Given the description of an element on the screen output the (x, y) to click on. 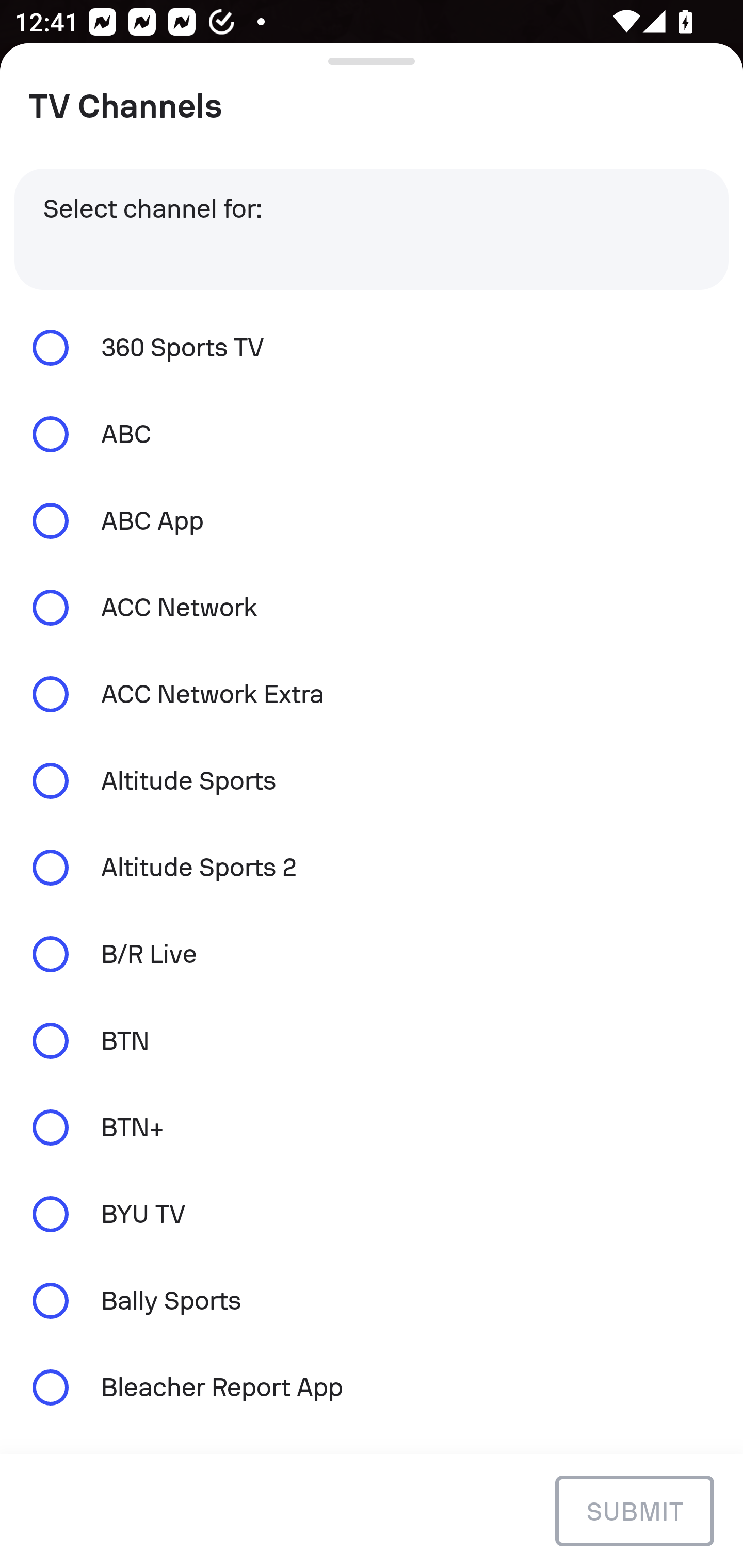
360 Sports TV (371, 347)
ABC (371, 434)
ABC App (371, 521)
ACC Network (371, 607)
ACC Network Extra (371, 693)
Altitude Sports (371, 780)
Altitude Sports 2 (371, 867)
B/R Live (371, 954)
BTN (371, 1040)
BTN+ (371, 1127)
BYU TV (371, 1214)
Bally Sports (371, 1300)
Bleacher Report App (371, 1386)
SUBMIT (634, 1510)
